Given the description of an element on the screen output the (x, y) to click on. 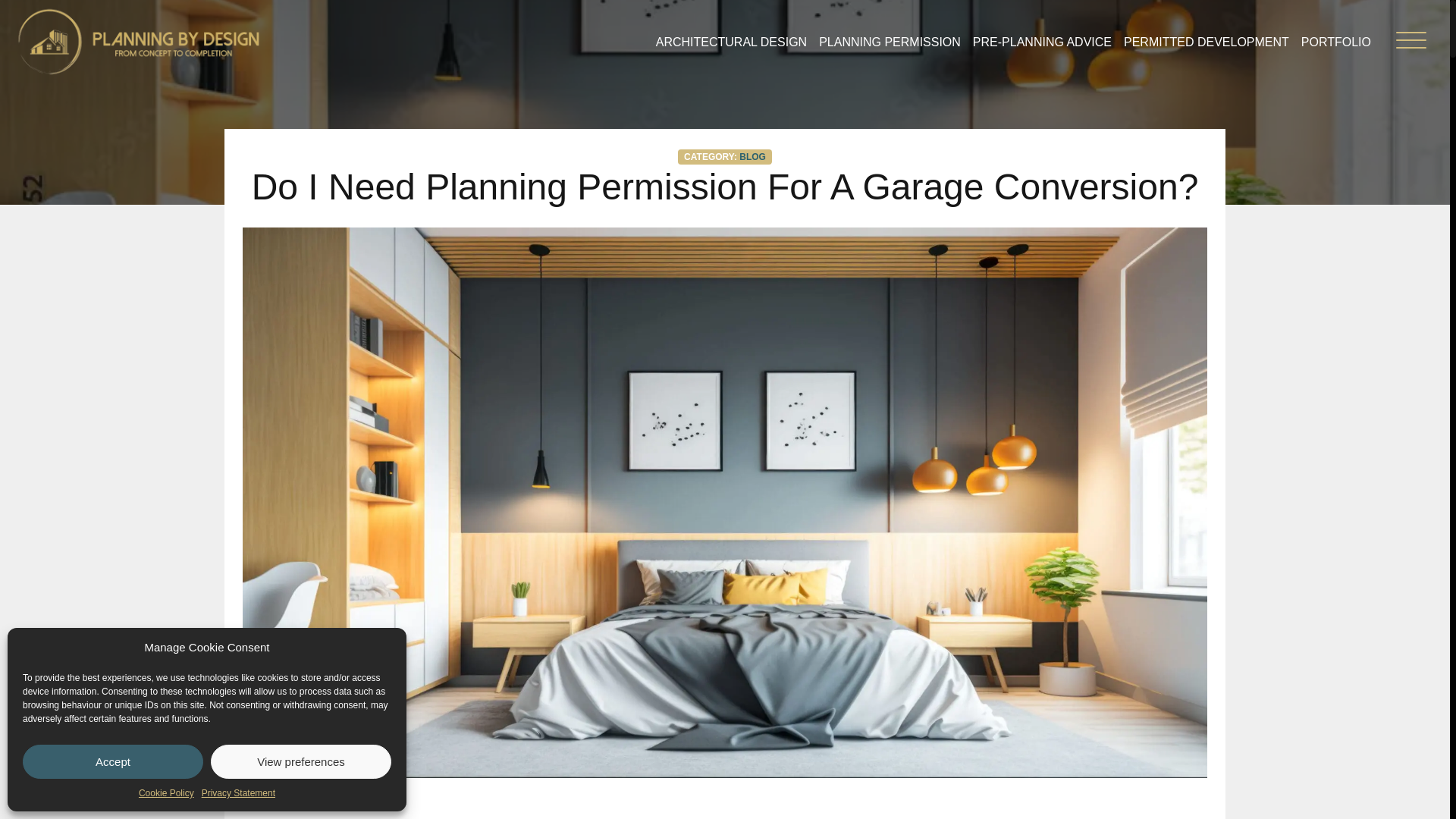
ARCHITECTURAL DESIGN (731, 41)
PORTFOLIO (1336, 41)
Accept (113, 761)
Privacy Statement (238, 793)
Menu (1411, 43)
BLOG (752, 156)
View preferences (301, 761)
PRE-PLANNING ADVICE (1042, 41)
PLANNING PERMISSION (889, 41)
Planning By Design (137, 41)
